Given the description of an element on the screen output the (x, y) to click on. 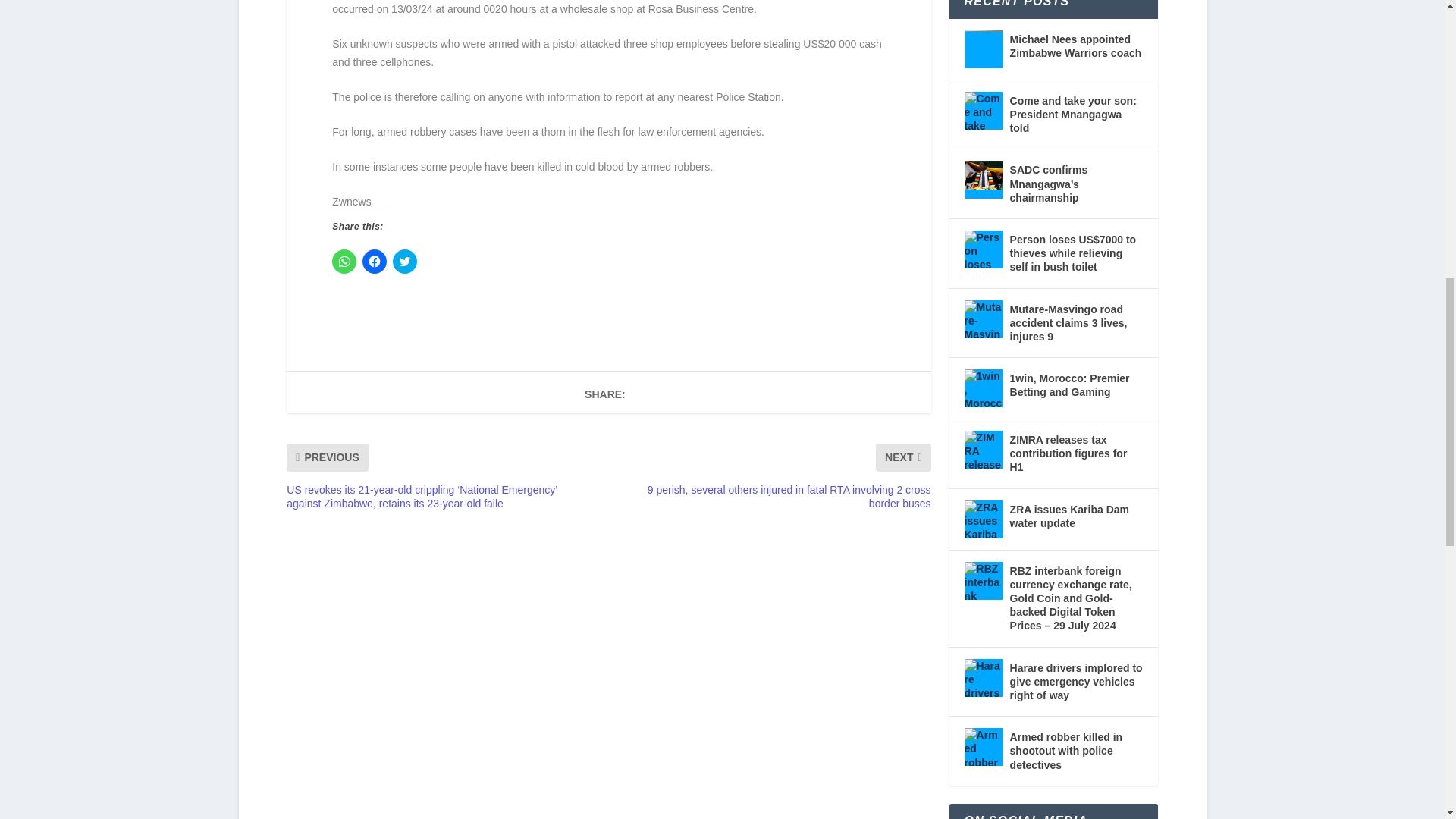
Click to share on Twitter (404, 261)
Click to share on WhatsApp (343, 261)
Click to share on Facebook (374, 261)
